Given the description of an element on the screen output the (x, y) to click on. 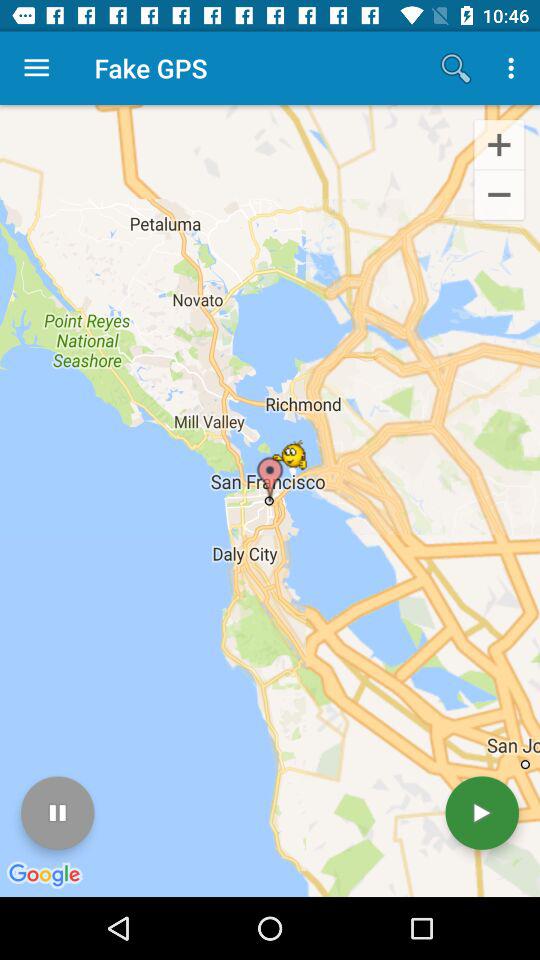
open the icon to the right of fake gps icon (455, 67)
